Given the description of an element on the screen output the (x, y) to click on. 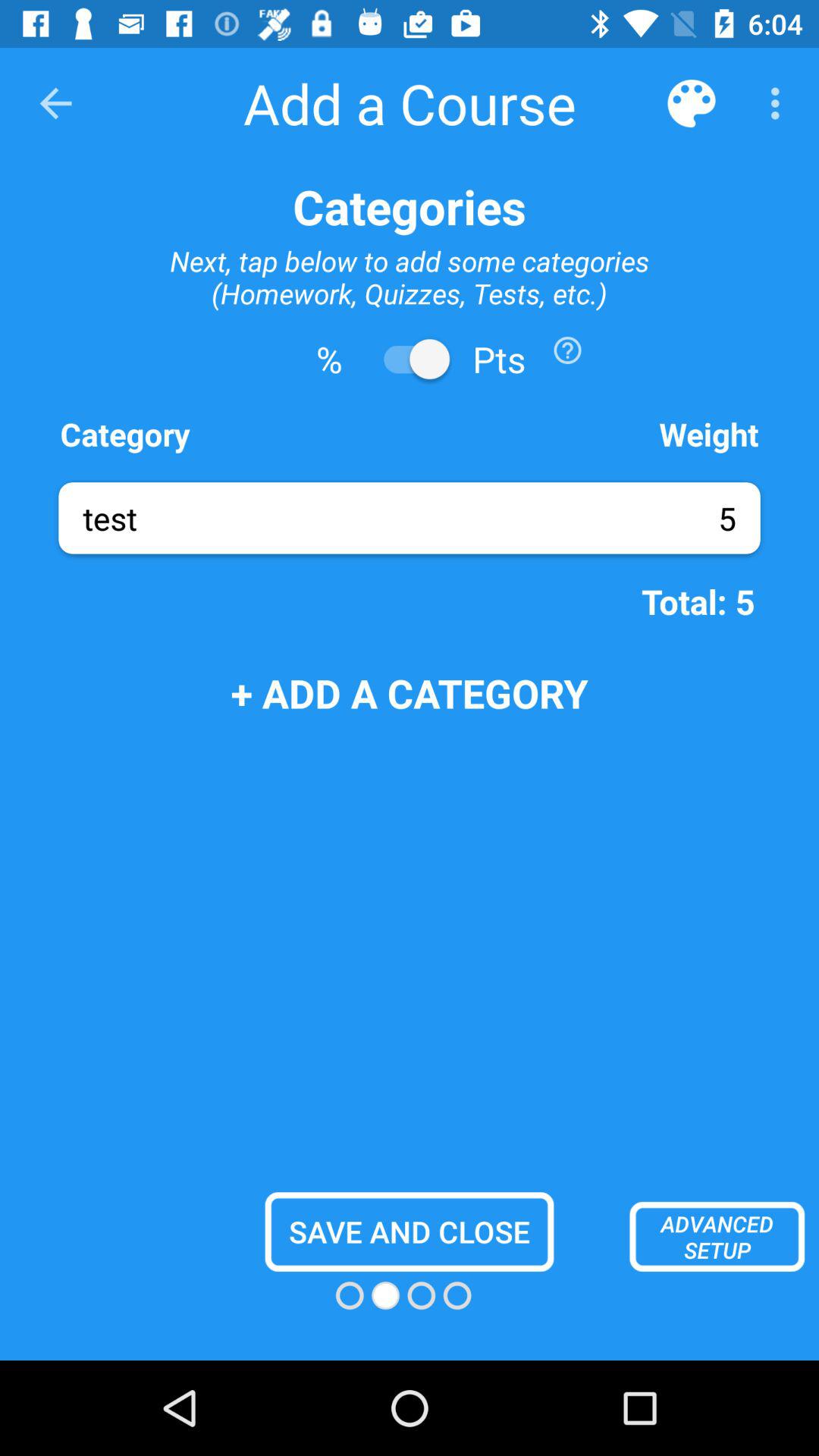
select the item above categories item (691, 103)
